Given the description of an element on the screen output the (x, y) to click on. 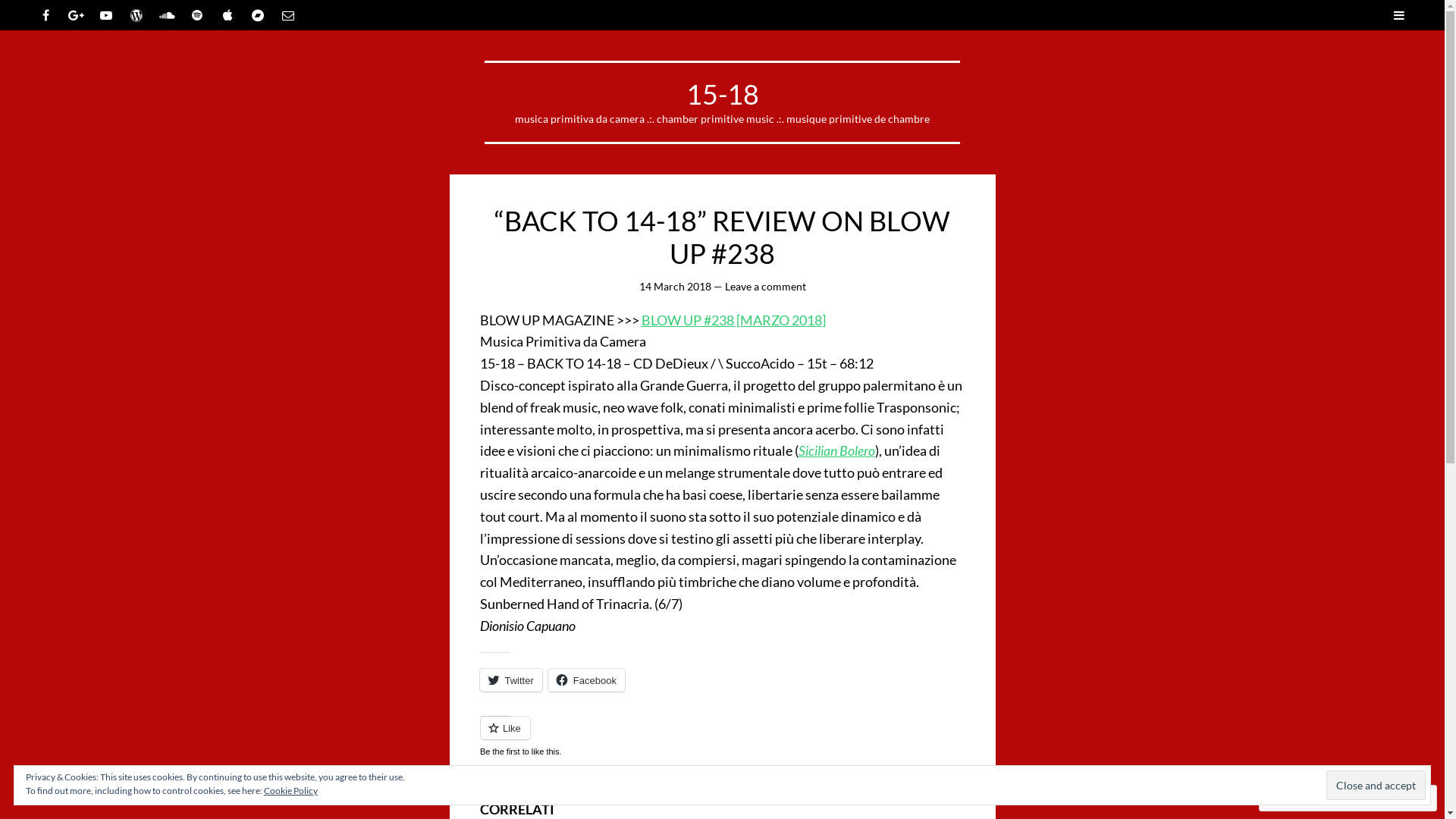
Close and accept Element type: text (1375, 785)
Twitter Element type: text (510, 679)
Facebook Element type: text (586, 679)
Email Element type: hover (288, 15)
Bandcamp Element type: hover (257, 15)
Comment Element type: text (1300, 797)
Follow Element type: text (1374, 797)
Facebook Element type: hover (45, 15)
Cookie Policy Element type: text (290, 790)
YouTube Element type: hover (106, 15)
14 March 2018 Element type: text (674, 285)
Like or Reblog Element type: hover (721, 741)
15-18 Element type: text (721, 93)
Leave a comment Element type: text (765, 285)
BLOW UP #238 [MARZO 2018] Element type: text (733, 319)
WordPress Element type: hover (136, 15)
Google Plus Element type: hover (75, 15)
SoundCloud Element type: hover (166, 15)
iTunes Element type: hover (227, 15)
Sicilian Bolero Element type: text (835, 450)
Spotify Element type: hover (197, 15)
